Given the description of an element on the screen output the (x, y) to click on. 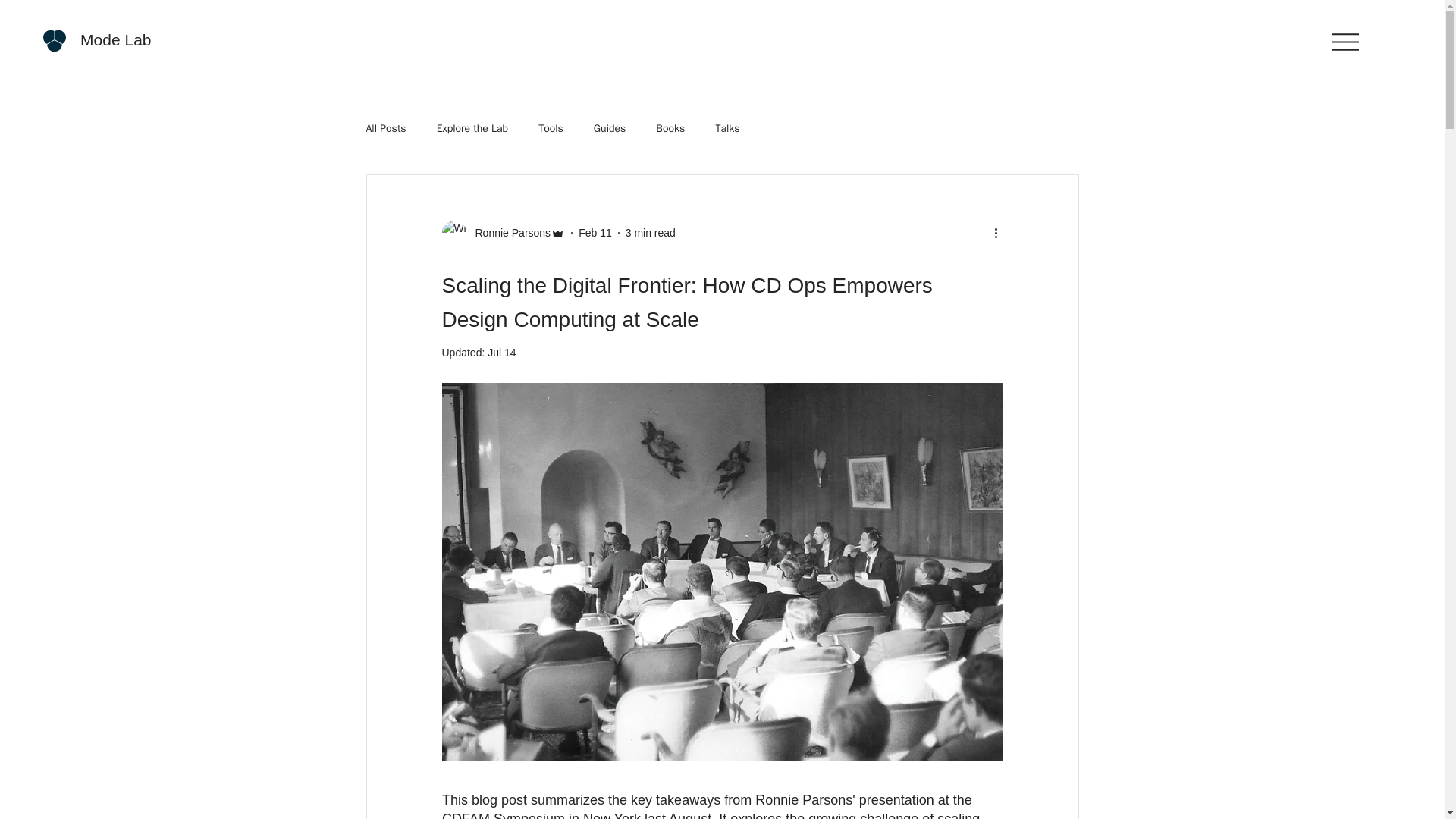
3 min read (650, 232)
Tools (550, 128)
All Posts (385, 128)
Books (670, 128)
Guides (610, 128)
Feb 11 (594, 232)
Jul 14 (501, 352)
Talks (726, 128)
Ronnie Parsons (507, 232)
Explore the Lab (472, 128)
Mode Lab (115, 39)
